Given the description of an element on the screen output the (x, y) to click on. 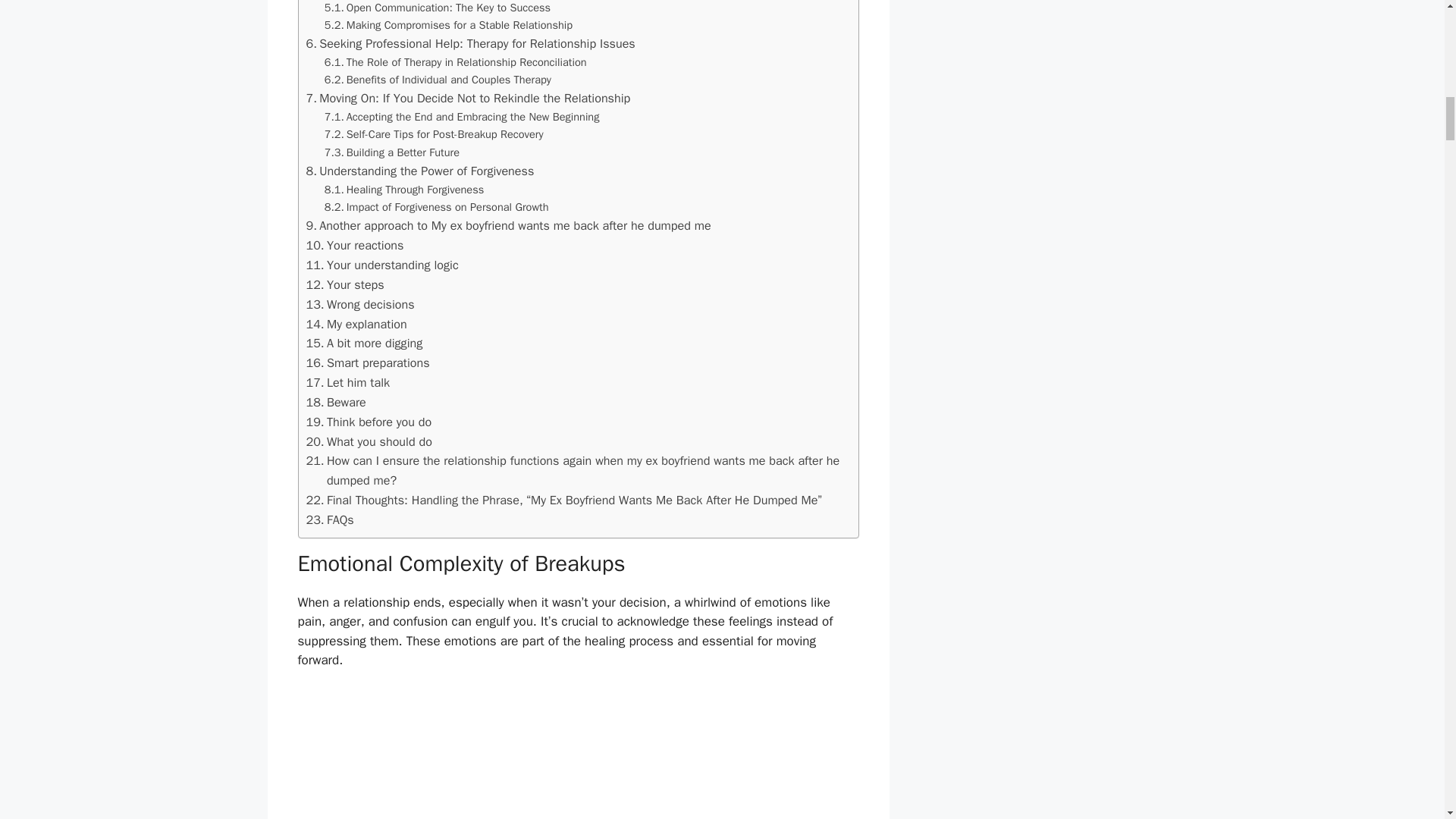
Building a Better Future (392, 152)
Seeking Professional Help: Therapy for Relationship Issues (469, 44)
Open Communication: The Key to Success (437, 8)
Benefits of Individual and Couples Therapy (437, 79)
Self-Care Tips for Post-Breakup Recovery (433, 134)
The Role of Therapy in Relationship Reconciliation (455, 62)
Making Compromises for a Stable Relationship (448, 25)
Moving On: If You Decide Not to Rekindle the Relationship (467, 98)
Accepting the End and Embracing the New Beginning (461, 117)
